Given the description of an element on the screen output the (x, y) to click on. 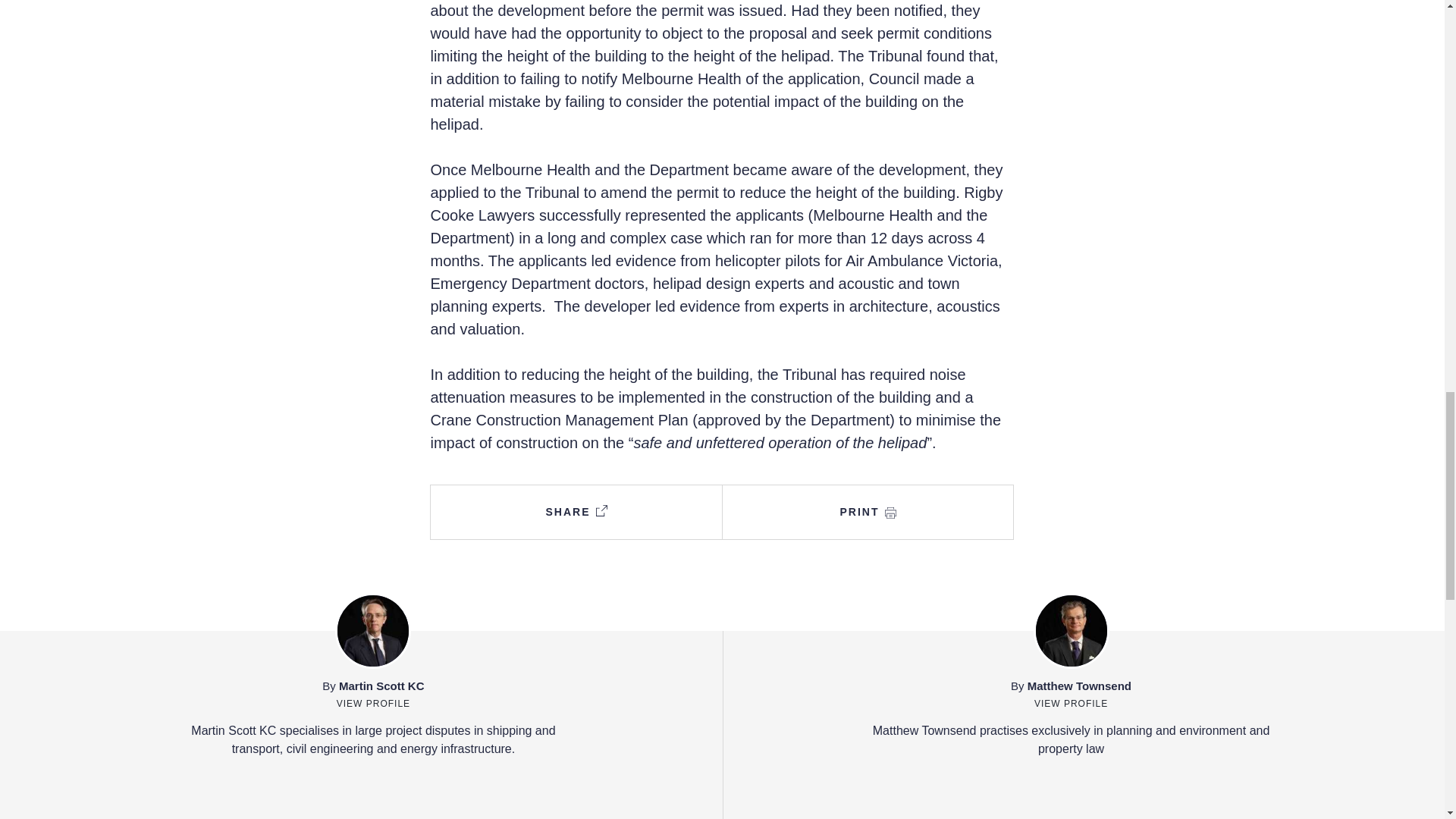
PRINT (867, 511)
VIEW PROFILE (373, 702)
SHARE (575, 511)
Matthew Townsend (1079, 685)
Martin Scott KC (382, 685)
VIEW PROFILE (1070, 702)
